Given the description of an element on the screen output the (x, y) to click on. 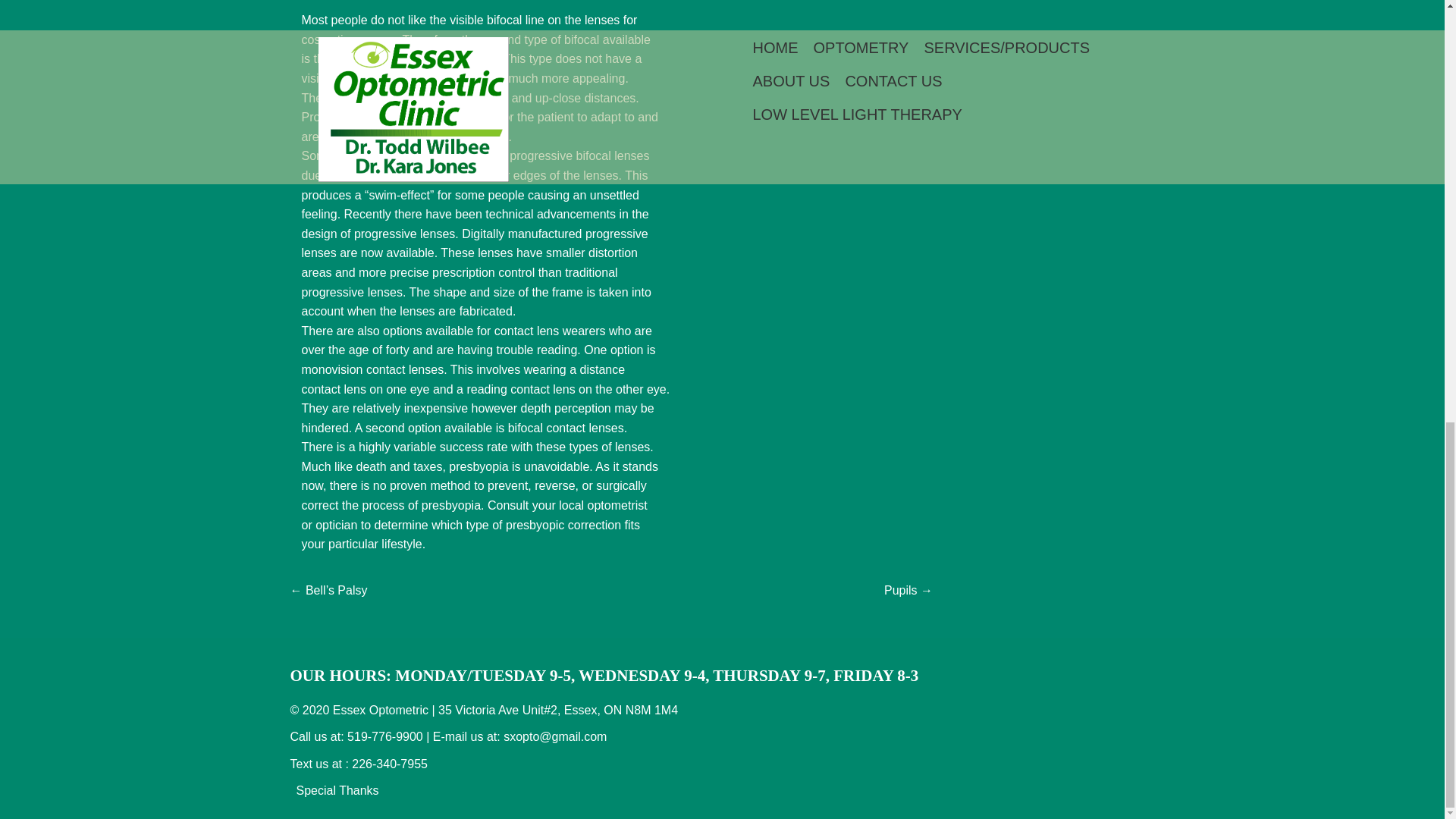
Special Thanks (336, 789)
